Given the description of an element on the screen output the (x, y) to click on. 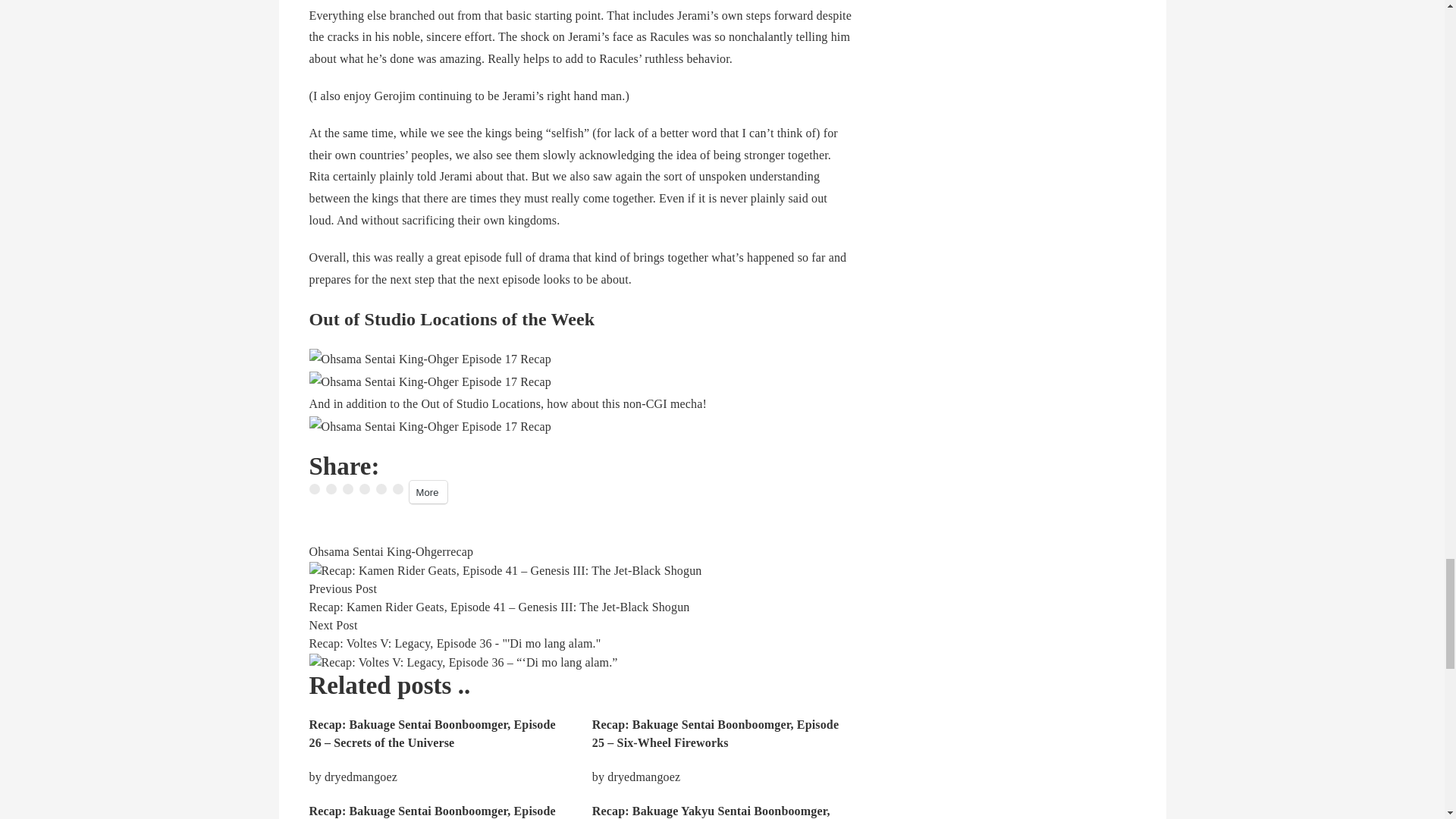
Click to share on Twitter (331, 489)
Click to share on Reddit (364, 489)
Click to share on Tumblr (347, 489)
Click to share on Facebook (314, 489)
Click to share on Pinterest (381, 489)
Click to email a link to a friend (398, 489)
